Given the description of an element on the screen output the (x, y) to click on. 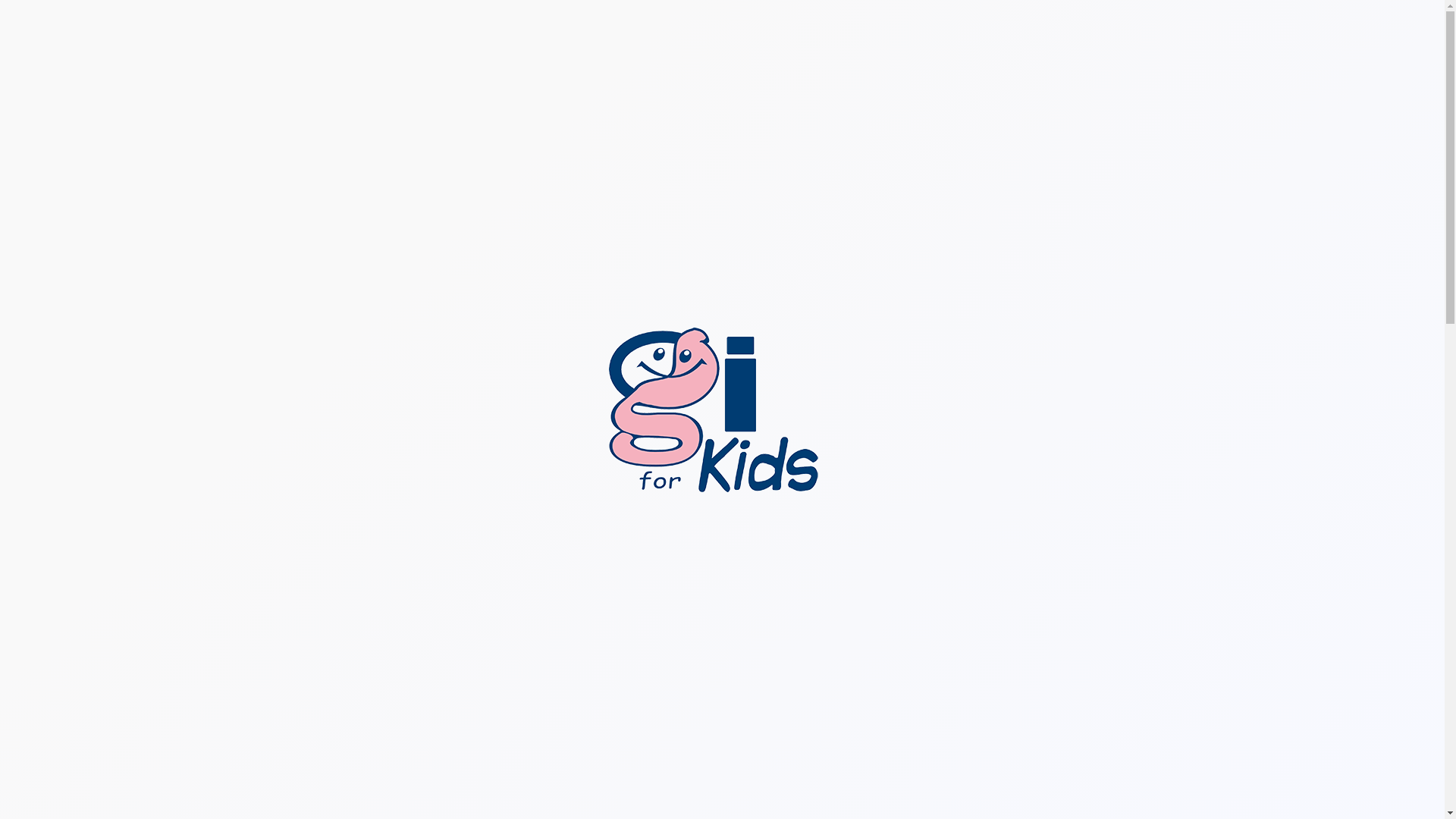
ABOUT US (949, 128)
REQUEST AN APPOINTMENT (1347, 84)
HOME (821, 128)
PORTAL (1152, 84)
SHOP (1018, 84)
PAY A BILL (1083, 84)
LOCATIONS (1225, 84)
PATIENTS (878, 128)
